Given the description of an element on the screen output the (x, y) to click on. 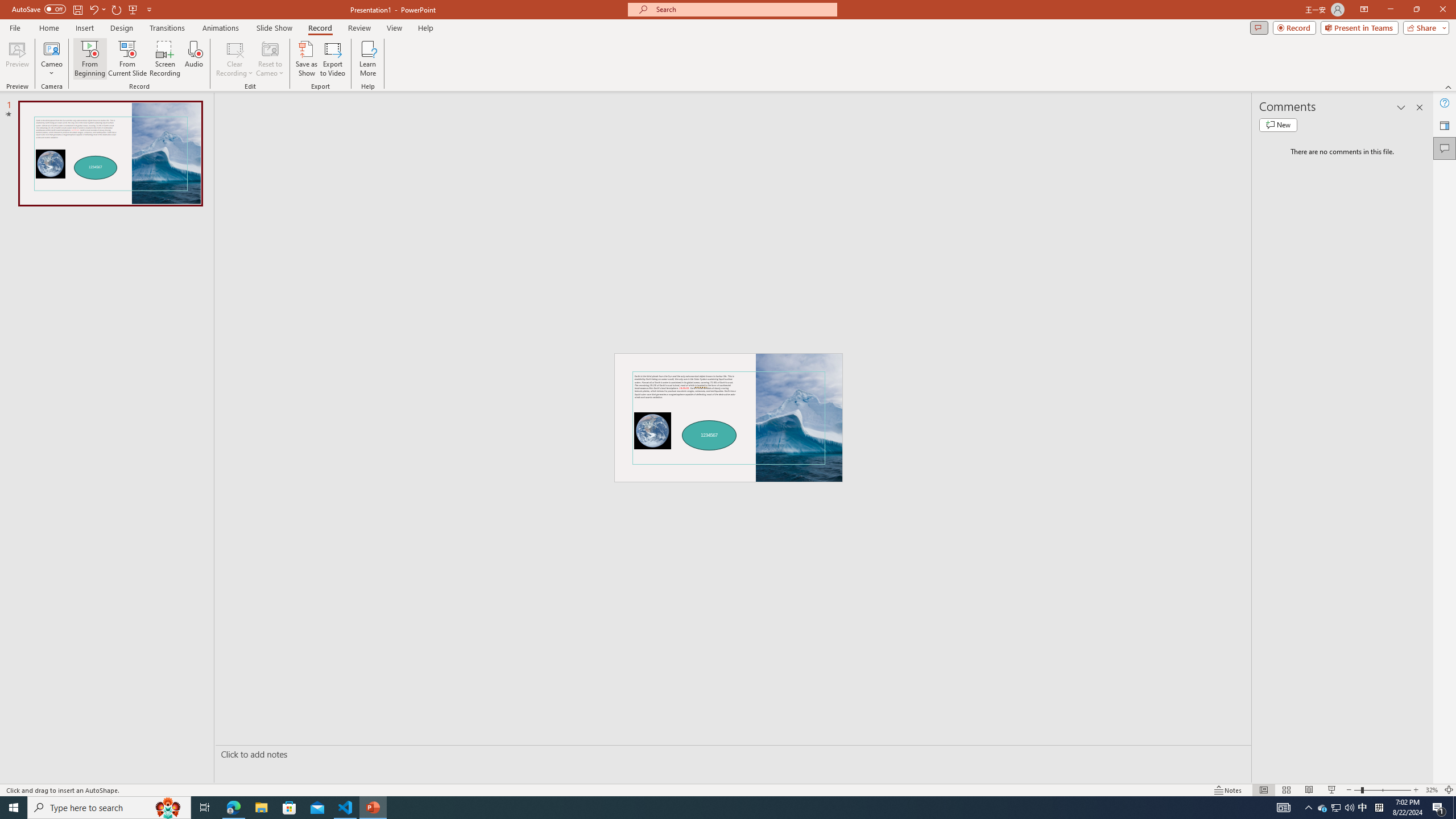
New comment (1278, 124)
Screen Recording (165, 58)
